Given the description of an element on the screen output the (x, y) to click on. 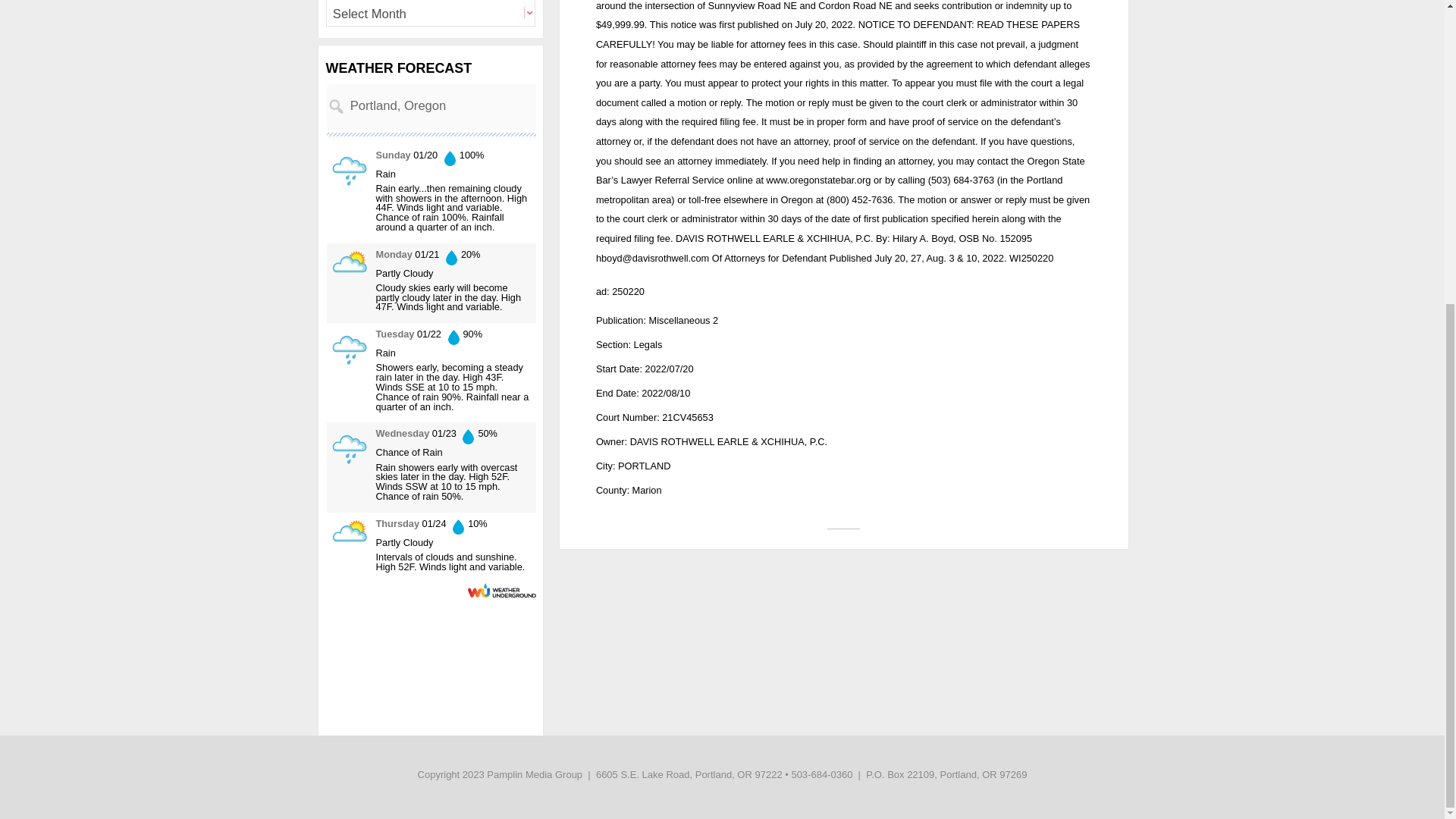
Portland, Oregon (478, 105)
View the Portland forecast on Wunderground.com (501, 590)
